Given the description of an element on the screen output the (x, y) to click on. 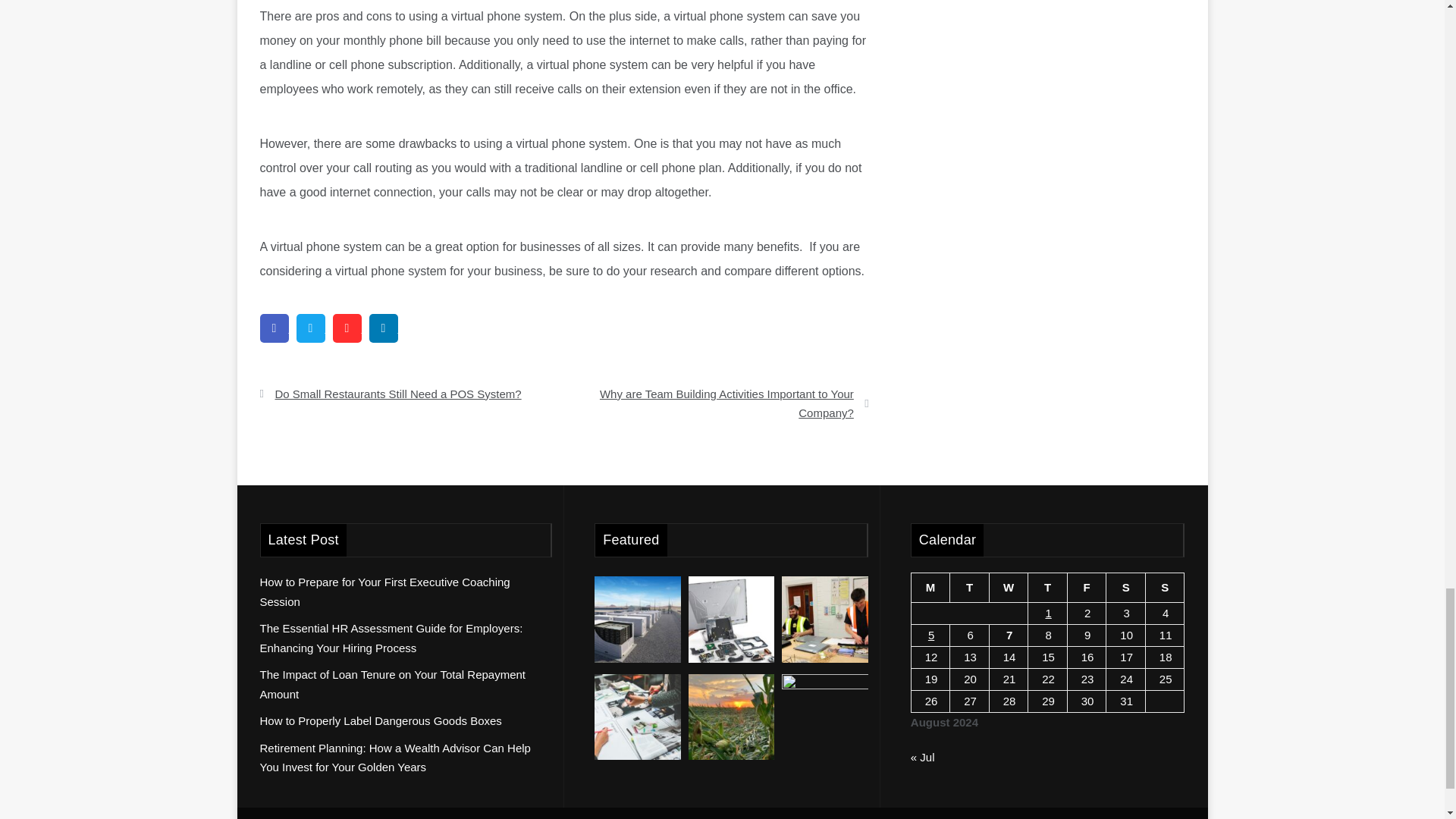
Saturday (1125, 587)
Tuesday (970, 587)
Wednesday (1007, 587)
Friday (1086, 587)
Thursday (1047, 587)
Sunday (1164, 587)
Monday (930, 587)
